Given the description of an element on the screen output the (x, y) to click on. 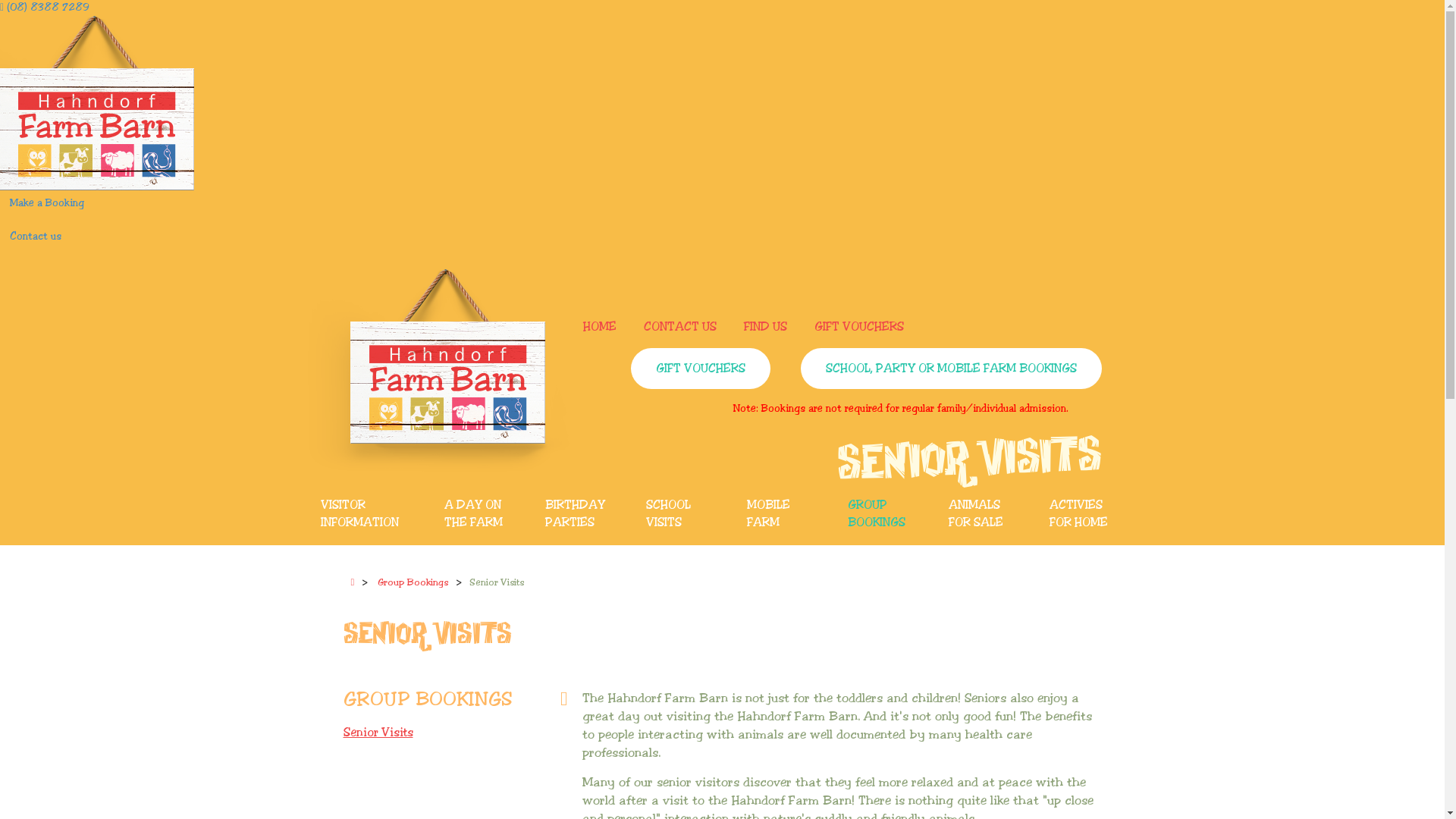
BIRTHDAY PARTIES Element type: text (582, 515)
Group Bookings Element type: text (412, 582)
GIFT VOUCHERS Element type: text (859, 327)
ANIMALS FOR SALE Element type: text (985, 515)
ACTIVIES FOR HOME Element type: text (1083, 515)
(08) 8388 7289 Element type: text (44, 6)
Senior Visits Element type: text (454, 732)
MOBILE FARM Element type: text (784, 515)
GROUP BOOKINGS Element type: text (885, 515)
GIFT VOUCHERS Element type: text (700, 368)
SCHOOL, PARTY OR MOBILE FARM BOOKINGS Element type: text (950, 368)
Hahndorf Farm Barn Element type: hover (438, 370)
VISITOR INFORMATION Element type: text (369, 515)
A DAY ON THE FARM Element type: text (482, 515)
SCHOOL VISITS Element type: text (683, 515)
CONTACT US Element type: text (679, 327)
Make a Booking Element type: text (47, 203)
HOME Element type: text (598, 327)
Contact us Element type: text (35, 236)
Senior Visits Element type: text (496, 582)
FIND US Element type: text (764, 327)
